Given the description of an element on the screen output the (x, y) to click on. 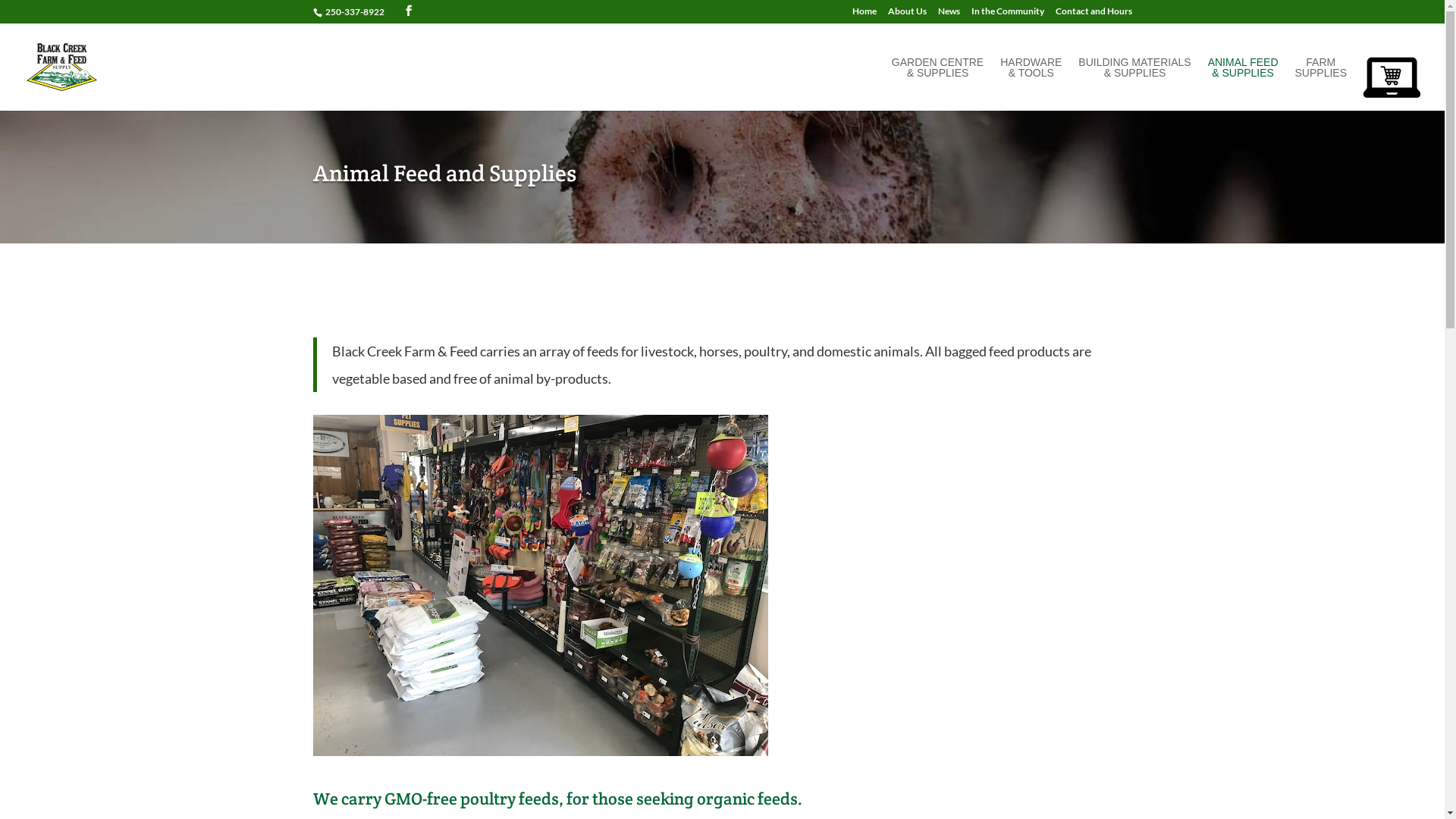
Home Element type: text (864, 14)
250-337-8922 Element type: text (353, 11)
About Us Element type: text (906, 14)
FARM
SUPPLIES Element type: text (1320, 83)
BUILDING MATERIALS
& SUPPLIES Element type: text (1134, 83)
In the Community Element type: text (1006, 14)
HARDWARE
& TOOLS Element type: text (1030, 83)
News Element type: text (948, 14)
ANIMAL FEED
& SUPPLIES Element type: text (1243, 83)
ONLINE SHOPPING Element type: text (1391, 82)
Contact and Hours Element type: text (1093, 14)
GARDEN CENTRE
& SUPPLIES Element type: text (937, 83)
